Given the description of an element on the screen output the (x, y) to click on. 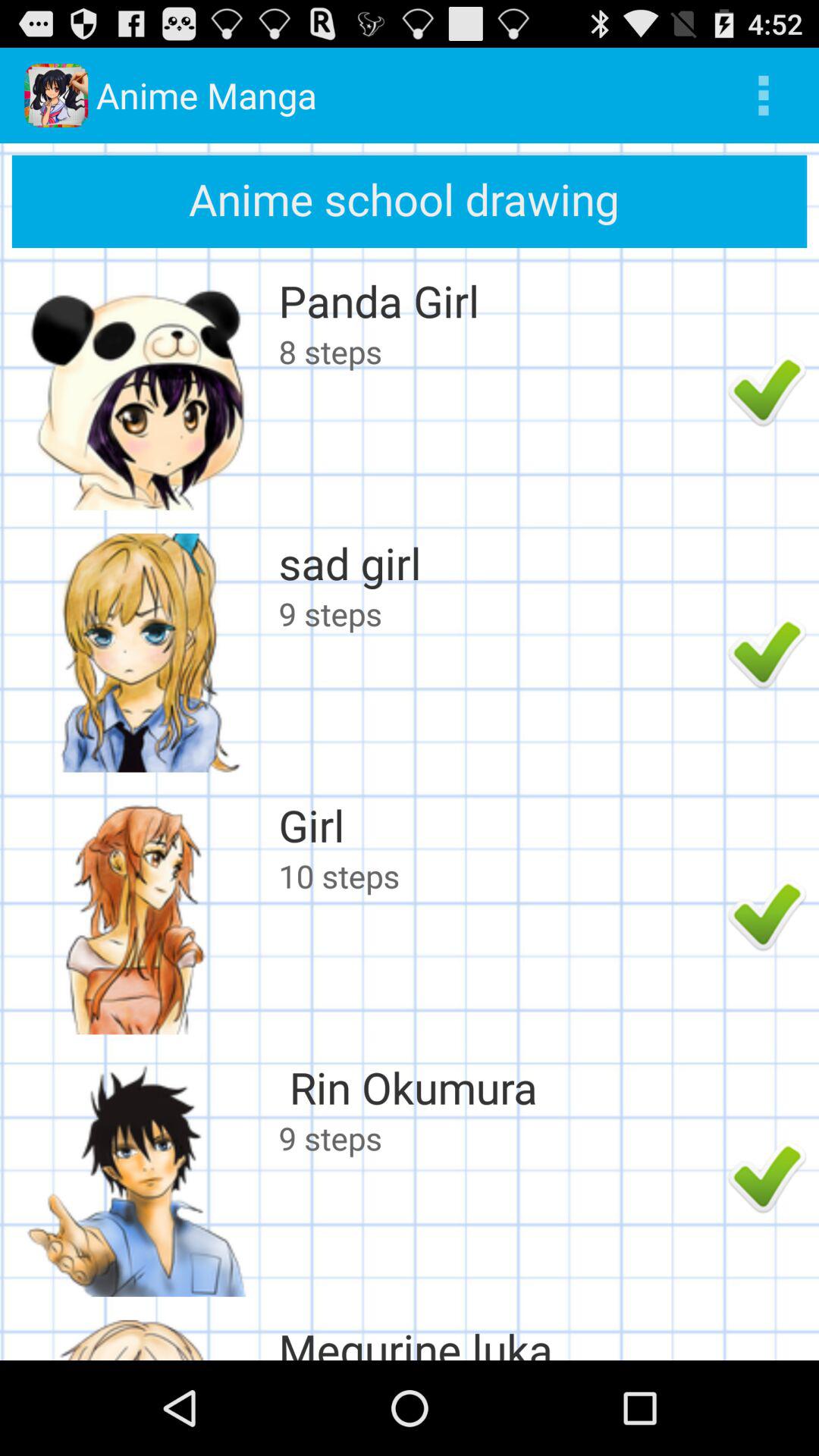
swipe to the 8 steps (498, 351)
